Given the description of an element on the screen output the (x, y) to click on. 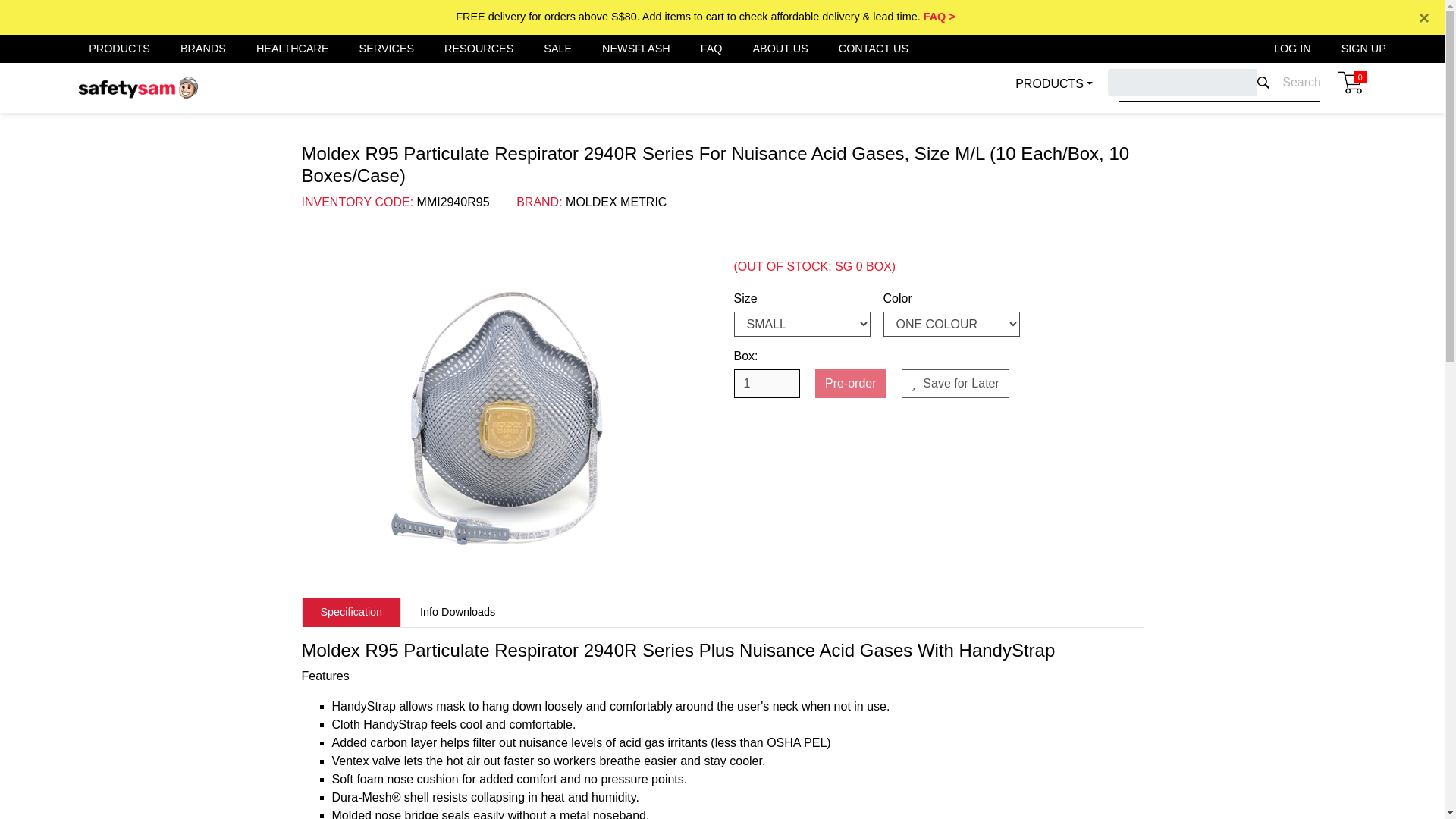
1 (766, 383)
